Given the description of an element on the screen output the (x, y) to click on. 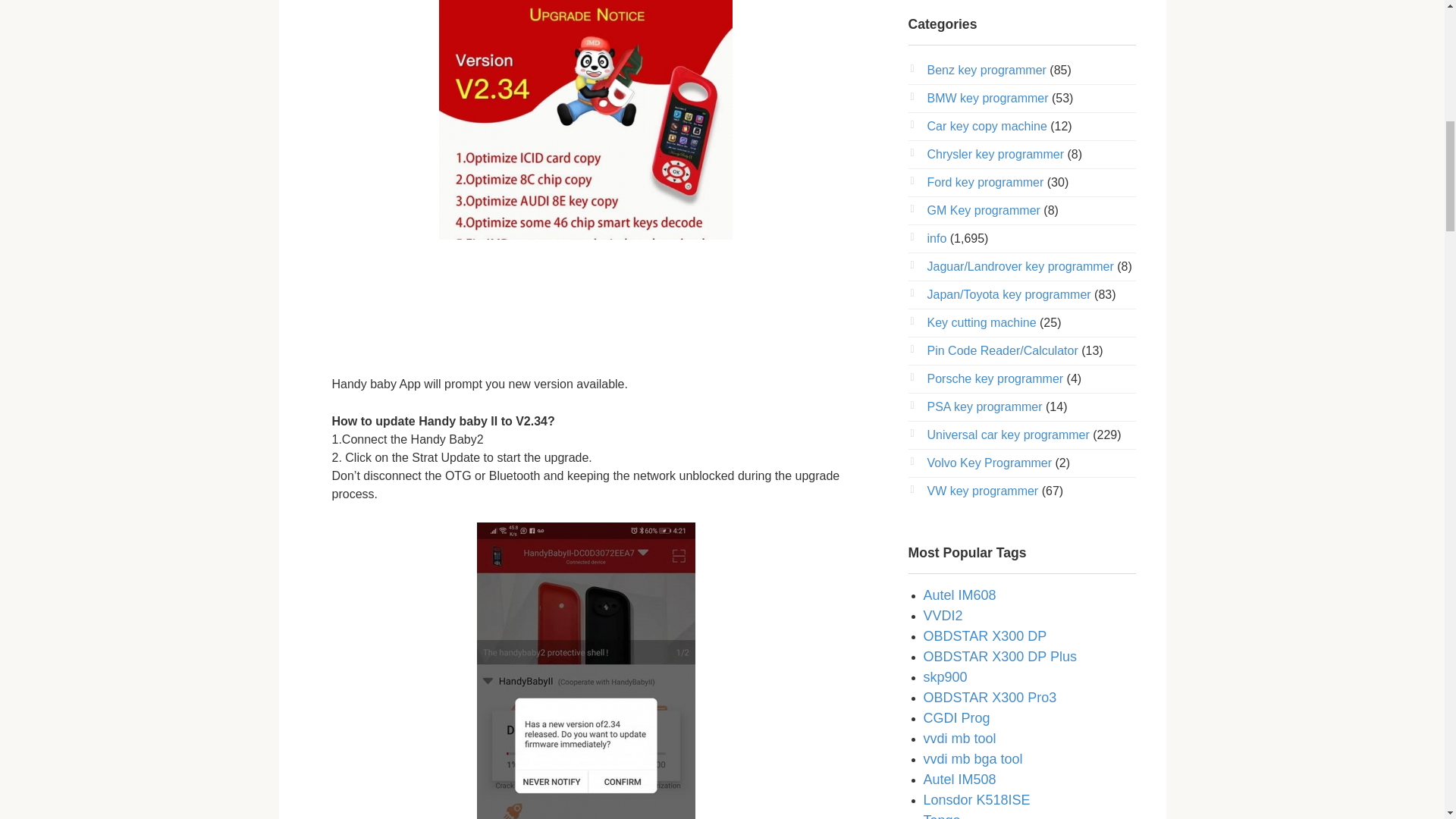
Chrysler key programmer (994, 154)
Car key copy machine (986, 125)
GM Key programmer (982, 210)
Benz key programmer (985, 69)
info (936, 237)
Ford key programmer (984, 182)
BMW key programmer (987, 97)
